Given the description of an element on the screen output the (x, y) to click on. 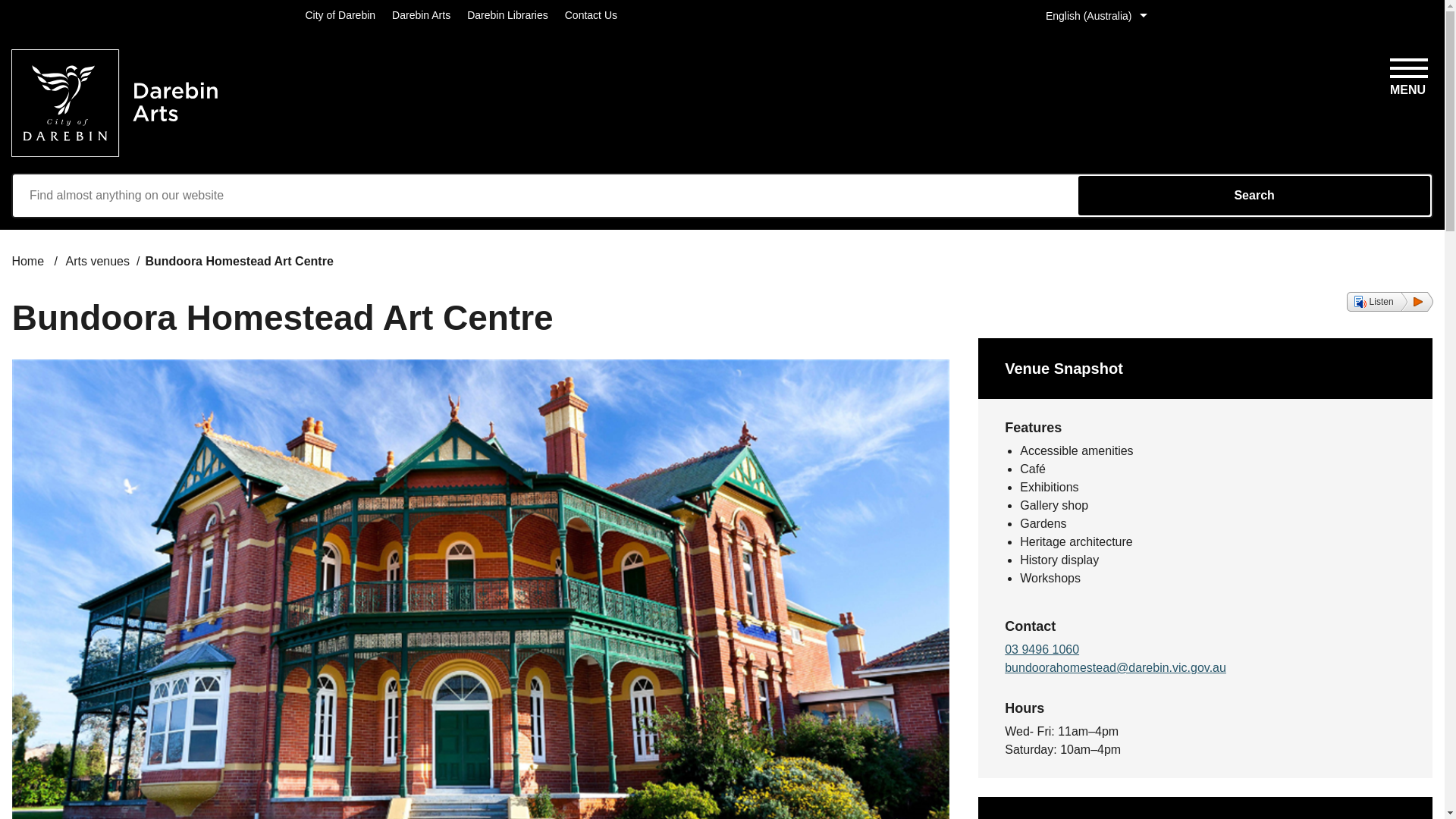
Search (1254, 195)
Search (1254, 195)
Darebin Arts (420, 15)
Search (1254, 195)
City Of Darebin - Home - Logo (114, 103)
Darebin Libraries (507, 15)
Listen to this page using ReadSpeaker (1389, 301)
Contact Us (590, 15)
MENU (1407, 75)
City of Darebin (339, 15)
